Given the description of an element on the screen output the (x, y) to click on. 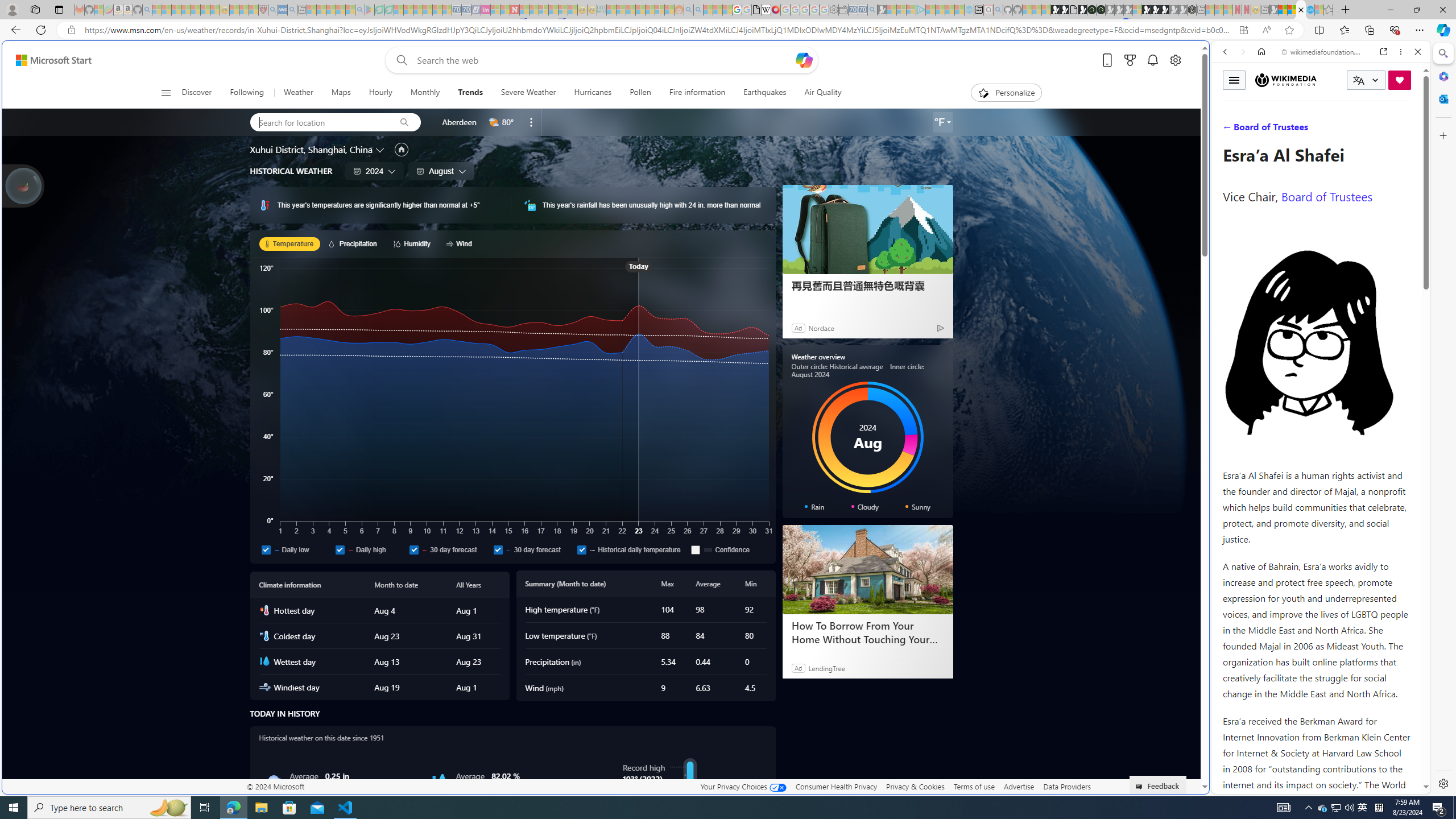
Search for location (318, 122)
Join us in planting real trees to help our planet! (23, 185)
Air Quality (817, 92)
Severe Weather (528, 92)
Hurricanes (592, 92)
